Given the description of an element on the screen output the (x, y) to click on. 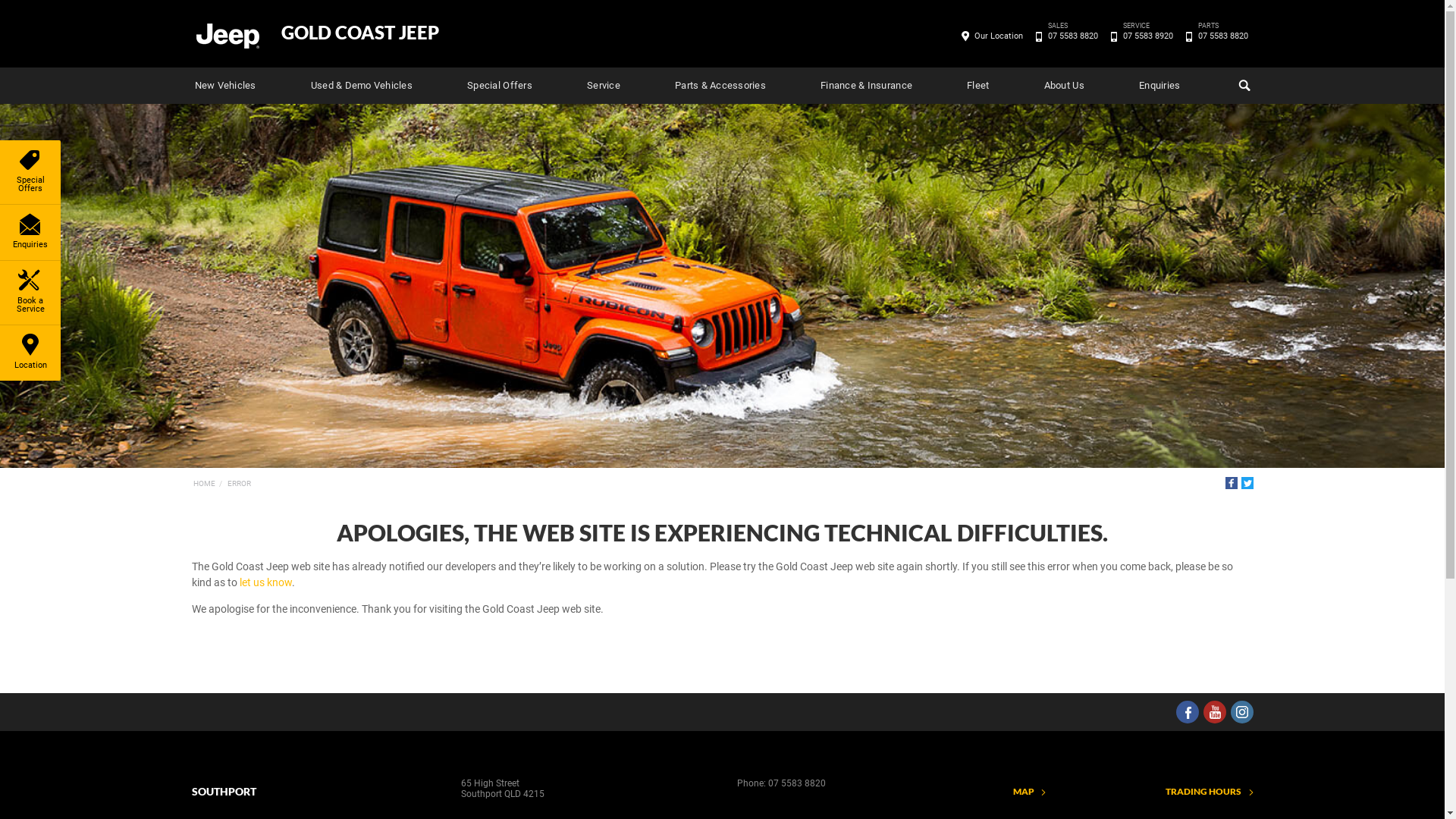
MAP Element type: text (1029, 791)
Facebook Element type: hover (1231, 482)
Enquiries Element type: text (30, 232)
Book a Service Element type: text (30, 292)
Service Element type: text (603, 85)
Visit our YouTube Channel Element type: hover (1213, 711)
Search Element type: text (1241, 85)
New Vehicles Element type: text (224, 85)
PARTS
07 5583 8820 Element type: text (1222, 35)
Parts & Accessories Element type: text (719, 85)
let us know Element type: text (265, 582)
Follow Us on Instagram Element type: hover (1241, 711)
SALES
07 5583 8820 Element type: text (1071, 35)
Gold Coast Jeep Element type: hover (226, 34)
Enquiries Element type: text (1159, 85)
About Us Element type: text (1064, 85)
GOLD COAST JEEP Element type: text (359, 32)
07 5583 8820 Element type: text (796, 783)
HOME Element type: text (203, 483)
Special Offers Element type: text (499, 85)
Location Element type: text (30, 352)
Fleet Element type: text (977, 85)
Used & Demo Vehicles Element type: text (361, 85)
Twitter Element type: hover (1246, 482)
SERVICE
07 5583 8920 Element type: text (1147, 35)
Special Offers Element type: text (30, 171)
Become a Friend on Facebook Element type: hover (1186, 711)
Finance & Insurance Element type: text (866, 85)
Our Location Element type: text (998, 35)
TRADING HOURS Element type: text (1209, 791)
